Given the description of an element on the screen output the (x, y) to click on. 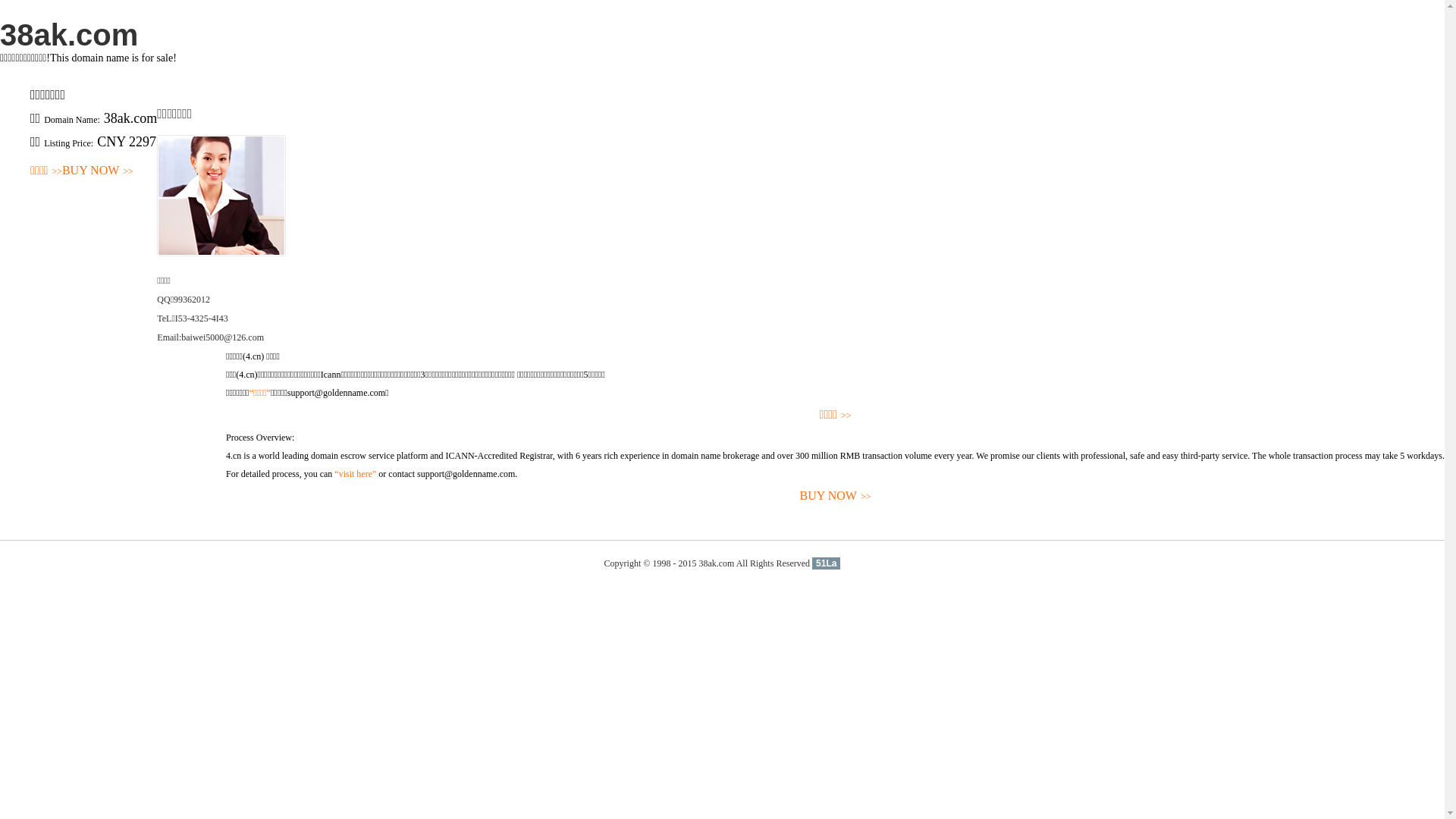
51La Element type: text (826, 563)
BUY NOW>> Element type: text (97, 170)
BUY NOW>> Element type: text (834, 496)
